Given the description of an element on the screen output the (x, y) to click on. 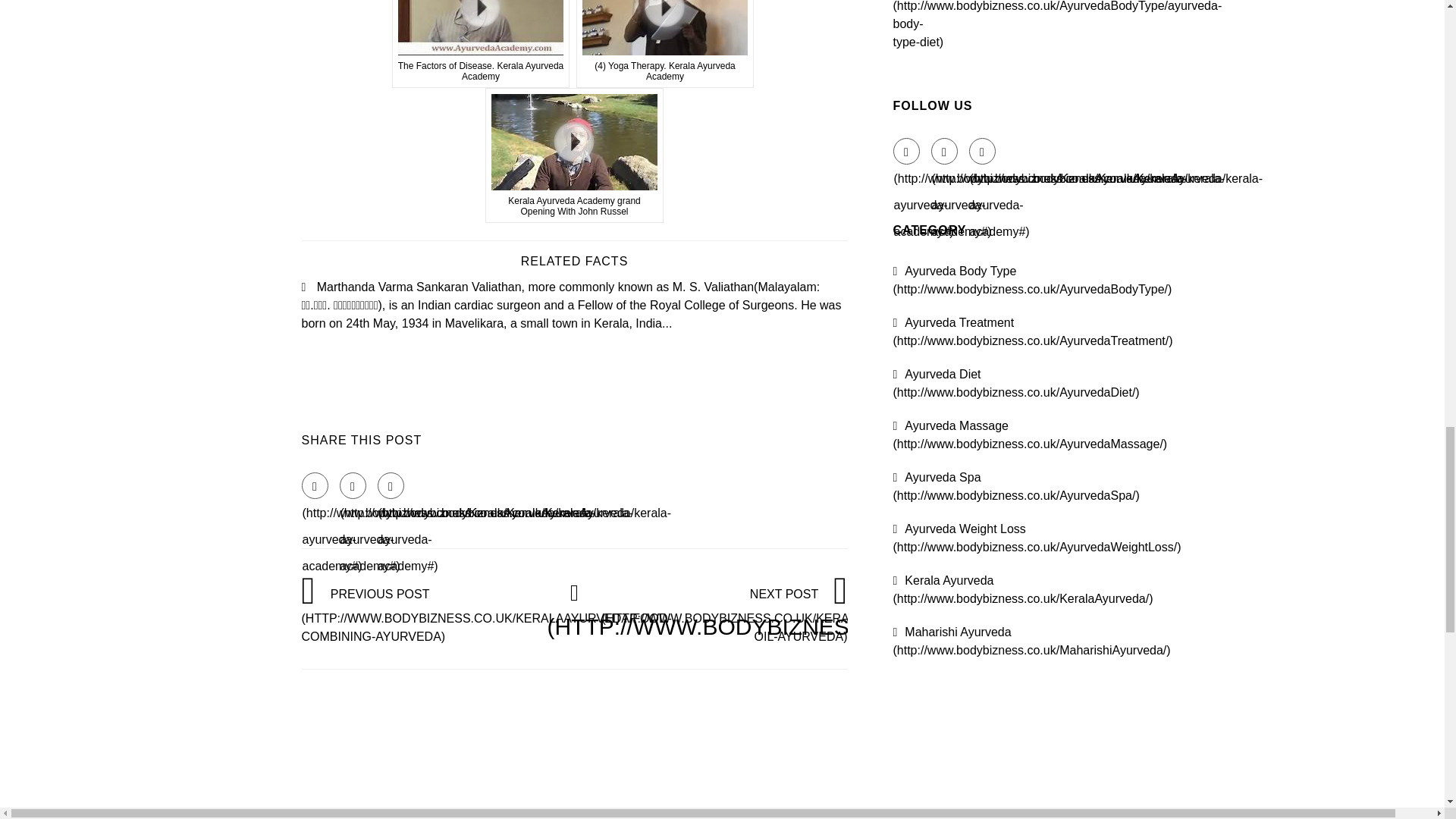
PREVIOUS POST (486, 613)
Facebook (315, 485)
Facebook (906, 151)
View all posts filed under Ayurveda Weight Loss (1036, 537)
Twitter (352, 485)
View all posts filed under Ayurveda Spa (1016, 486)
View all posts filed under Ayurveda Diet (1016, 382)
View all posts filed under Maharishi Ayurveda (1031, 640)
Google Plus (982, 151)
View all posts filed under Ayurveda Treatment (1033, 331)
Google Plus (390, 485)
View all posts filed under Kerala Ayurveda (1023, 589)
View this video from YouTube (665, 44)
View all posts filed under Ayurveda Body Type (1032, 279)
View all posts filed under Ayurveda Massage (1030, 434)
